Given the description of an element on the screen output the (x, y) to click on. 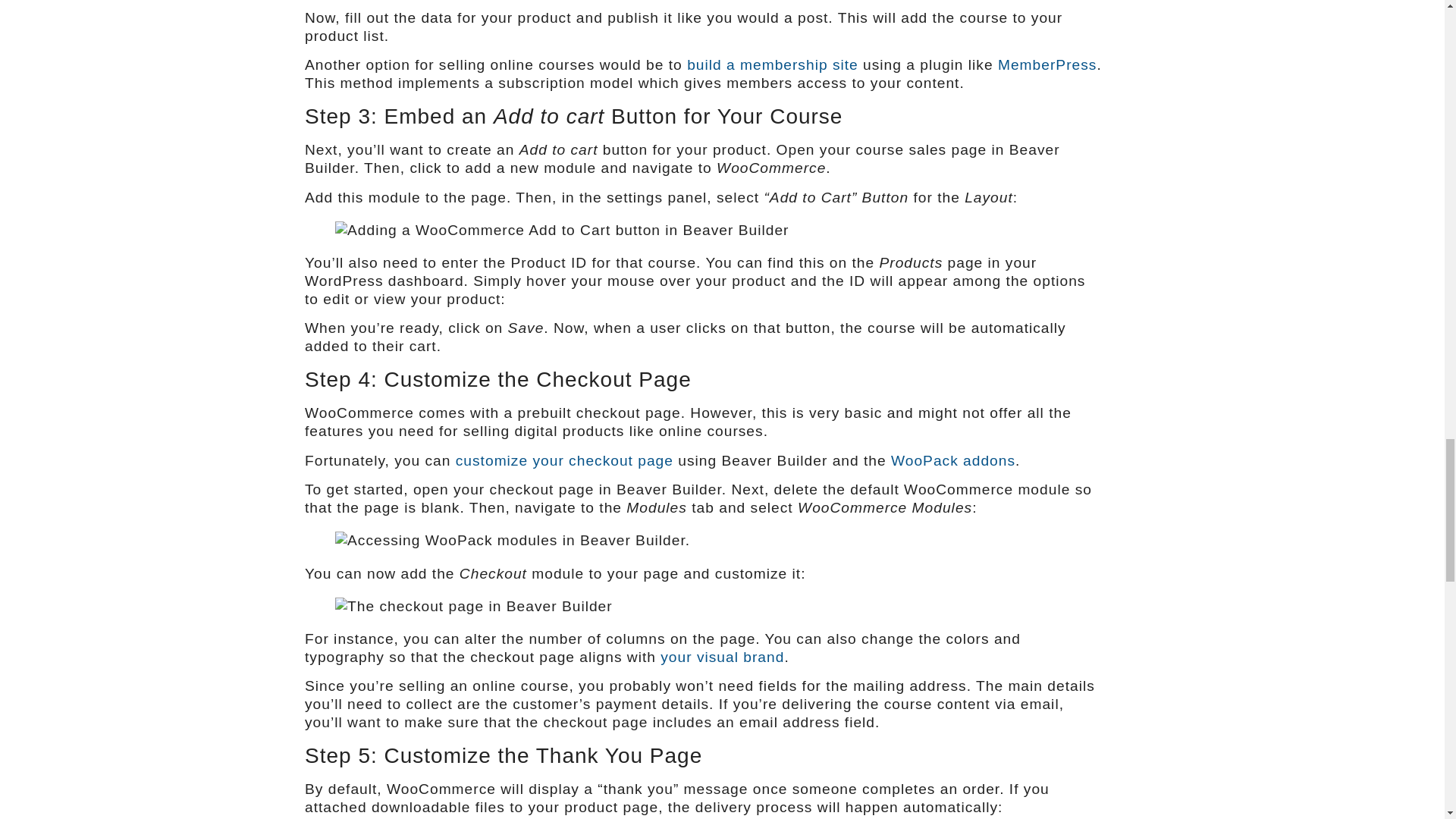
MemberPress (1046, 64)
WooPack addons (952, 460)
customize your checkout page (563, 460)
your visual brand (722, 657)
build a membership site (773, 64)
